Given the description of an element on the screen output the (x, y) to click on. 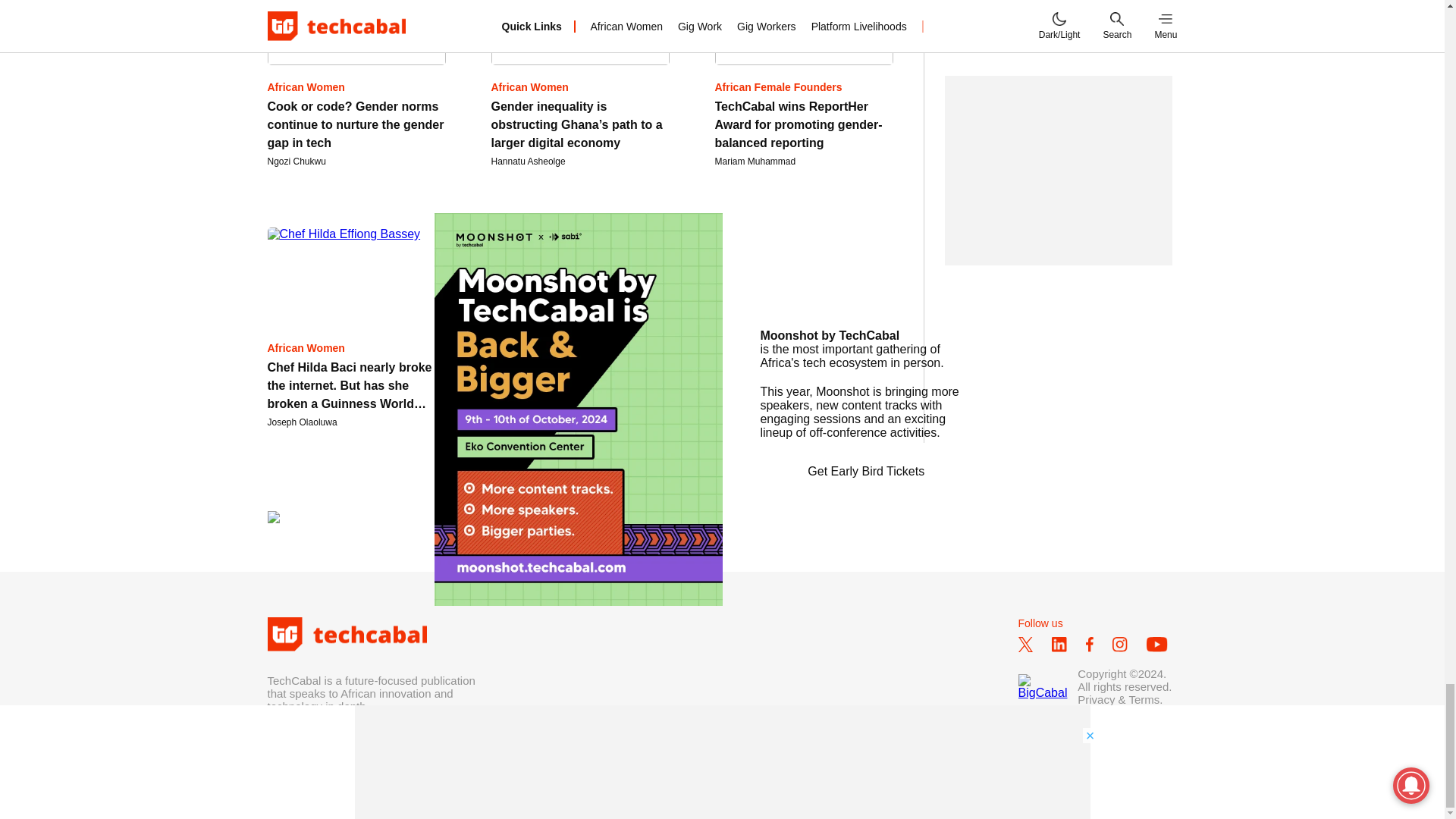
Posts by Ngozi Chukwu (295, 161)
Posts by Hannatu Asheolge (529, 161)
Posts by Editor (503, 421)
Posts by Mariam Muhammad (754, 161)
Posts by Joseph Olaoluwa (301, 421)
